Given the description of an element on the screen output the (x, y) to click on. 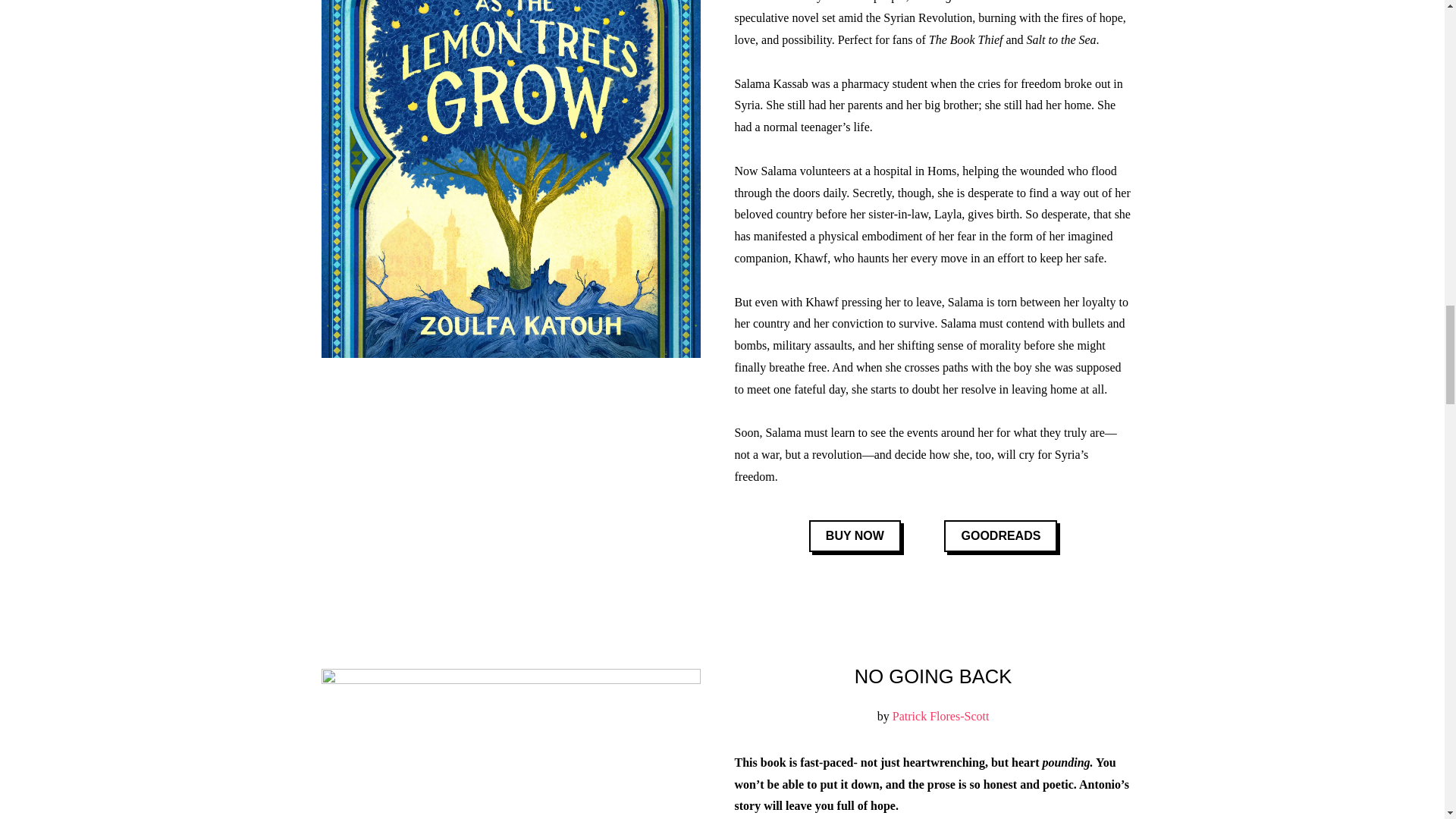
BUY NOW (855, 536)
Patrick Flores-Scott (941, 716)
GOODREADS (1000, 536)
